Given the description of an element on the screen output the (x, y) to click on. 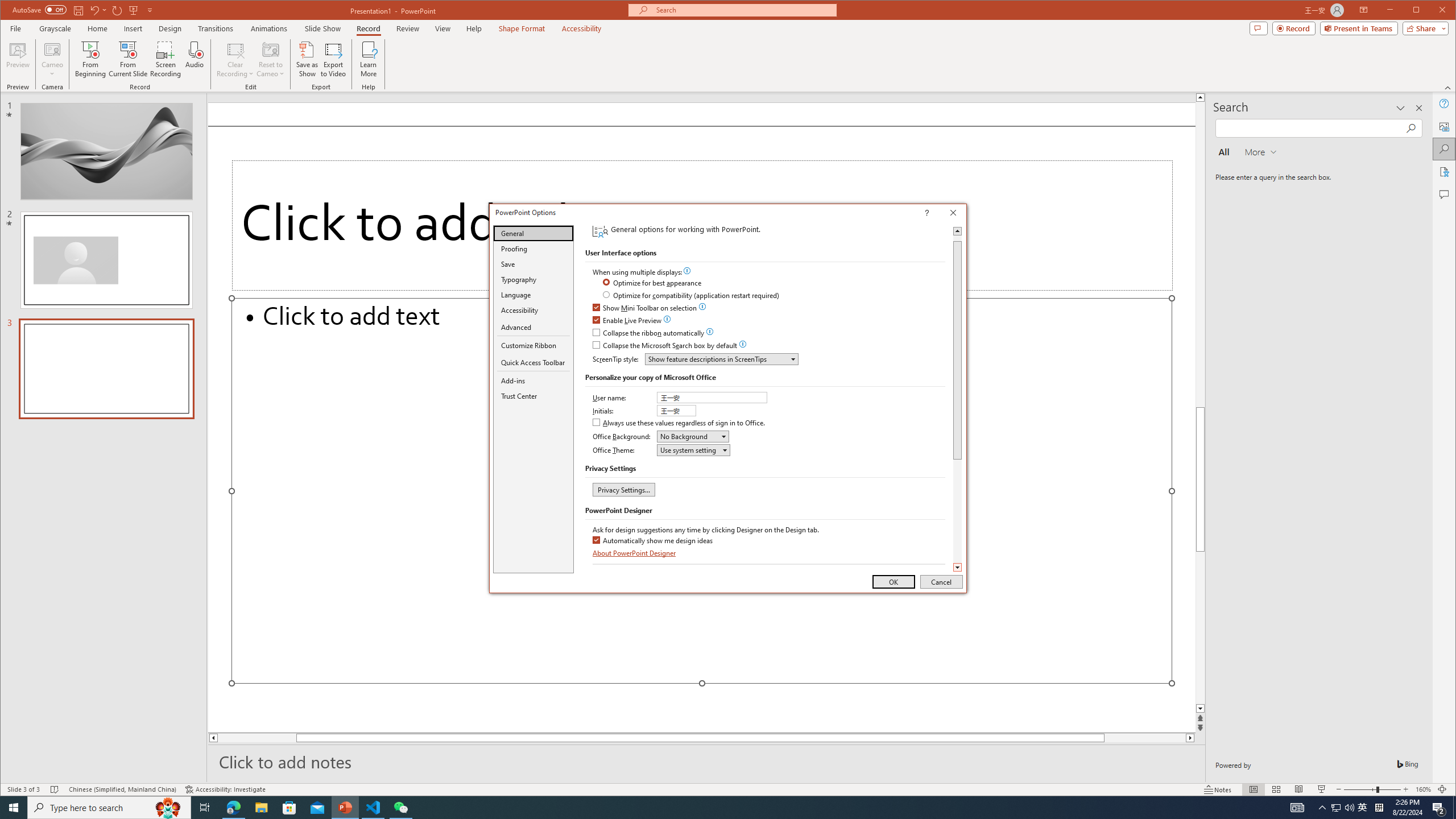
Language (533, 294)
User name (712, 397)
Reset to Cameo (269, 59)
